Given the description of an element on the screen output the (x, y) to click on. 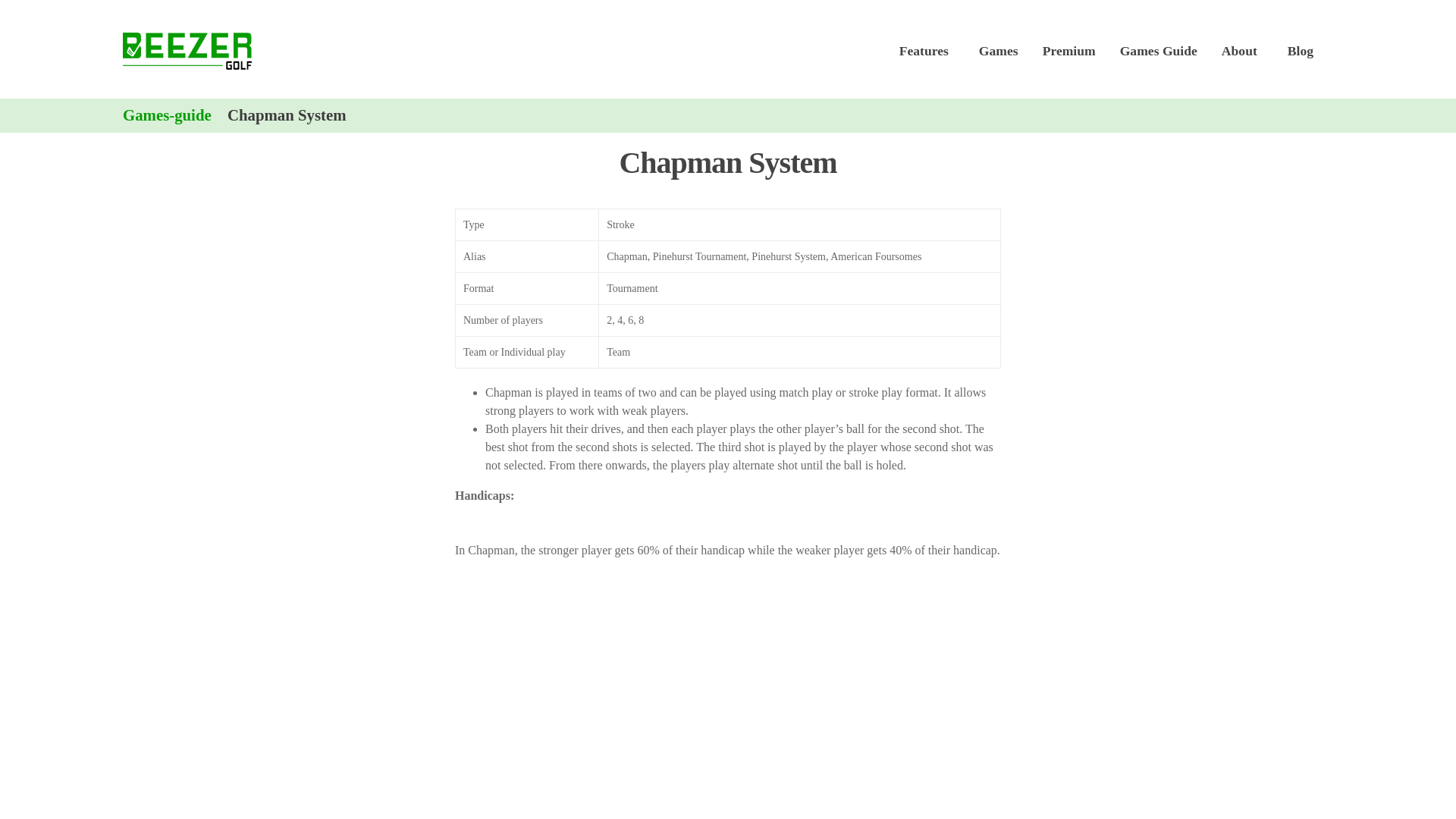
Games Guide (1158, 50)
Features (926, 50)
Premium (1069, 50)
Games (998, 50)
About (1242, 50)
